Given the description of an element on the screen output the (x, y) to click on. 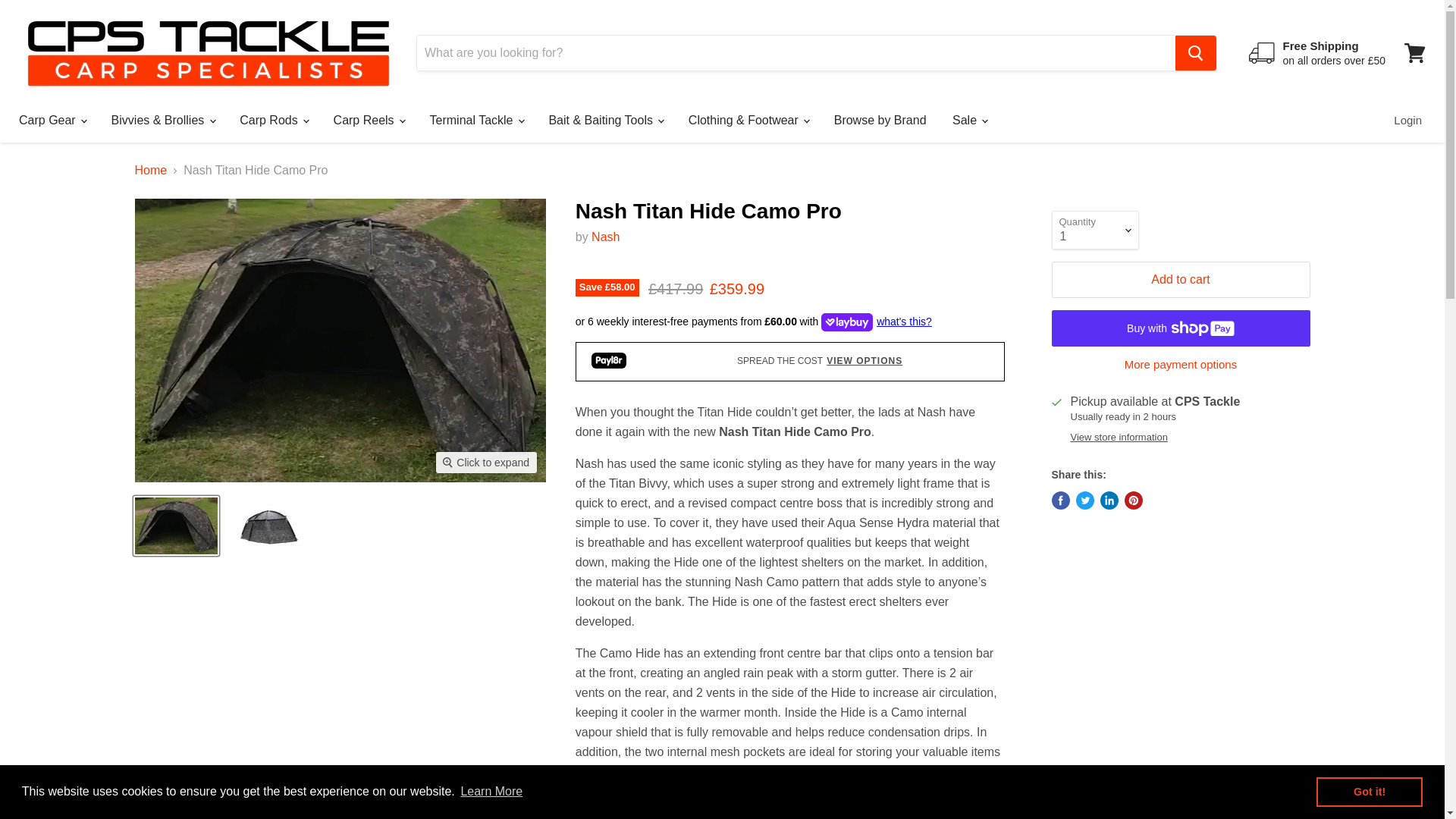
Terminal Tackle (476, 120)
Got it! (1369, 791)
Carp Reels (367, 120)
Carp Rods (273, 120)
Nash (605, 236)
Learn More (491, 791)
View cart (1414, 53)
Carp Gear (51, 120)
